Given the description of an element on the screen output the (x, y) to click on. 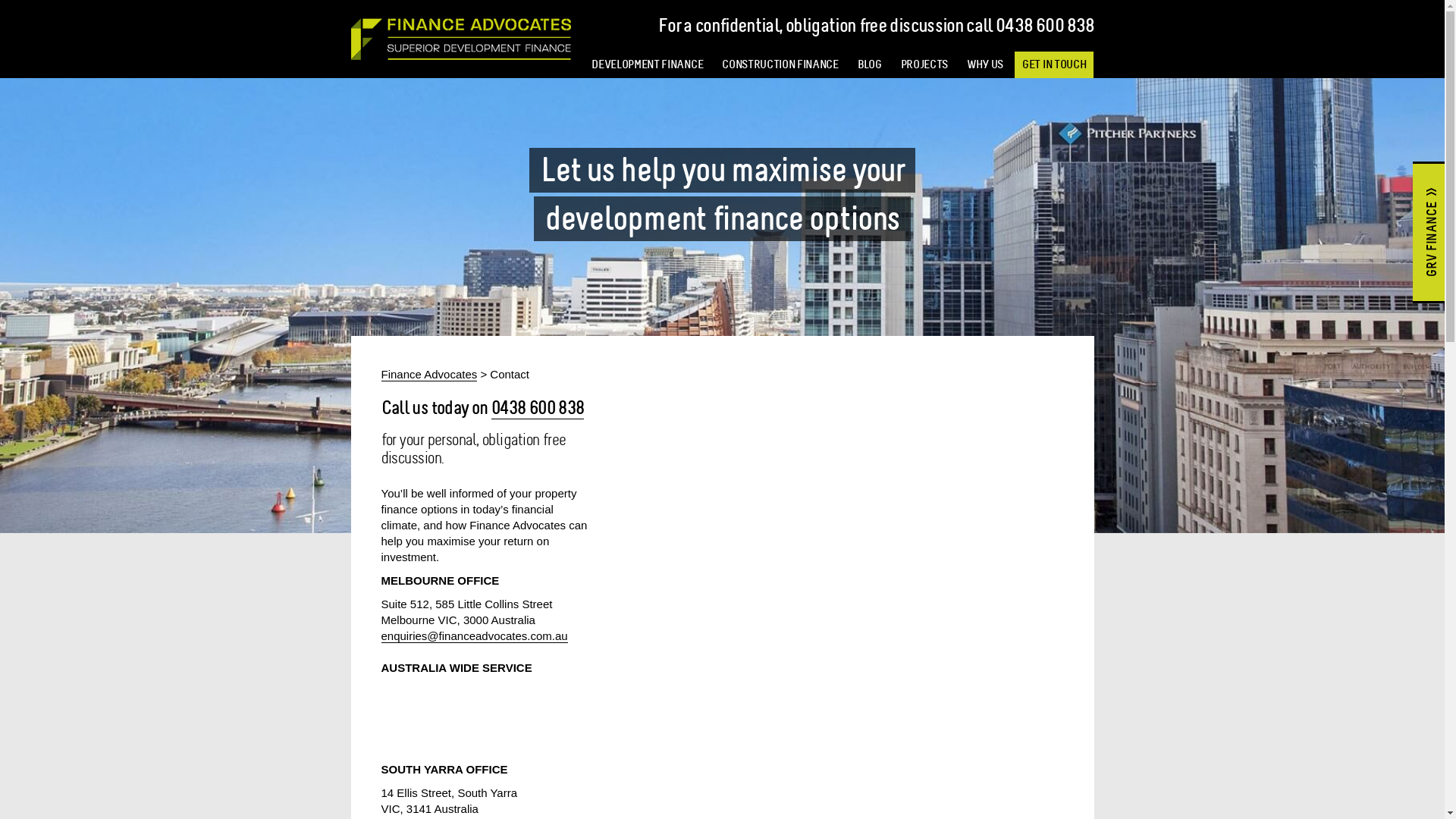
Development Finance Element type: text (460, 39)
PROJECTS Element type: text (923, 64)
GET IN TOUCH Element type: text (1053, 64)
WHY US Element type: text (984, 64)
enquiries@financeadvocates.com.au Element type: text (473, 636)
Finance Advocates Element type: text (428, 374)
CONSTRUCTION FINANCE Element type: text (779, 64)
BLOG Element type: text (869, 64)
DEVELOPMENT FINANCE Element type: text (646, 64)
0438 600 838 Element type: text (537, 408)
